Given the description of an element on the screen output the (x, y) to click on. 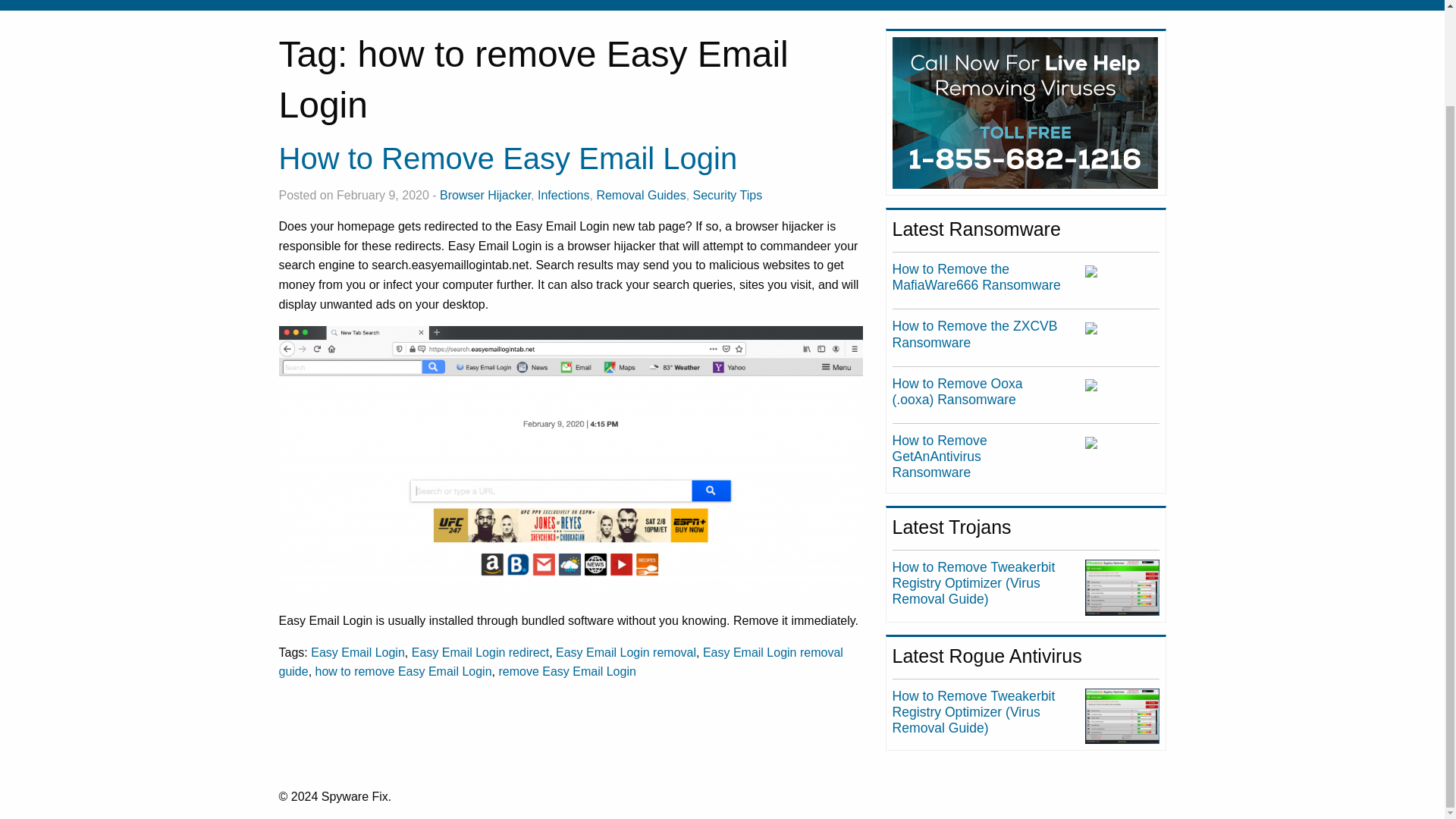
Easy Email Login (357, 652)
how to remove Easy Email Login (403, 671)
How to Remove the ZXCVB Ransomware (975, 333)
Browser Hijacker (485, 195)
Infections (372, 2)
Security Tips (727, 195)
Infections (563, 195)
Easy Email Login removal guide (561, 662)
How to Remove GetAnAntivirus Ransomware (939, 456)
remove Easy Email Login (565, 671)
